Given the description of an element on the screen output the (x, y) to click on. 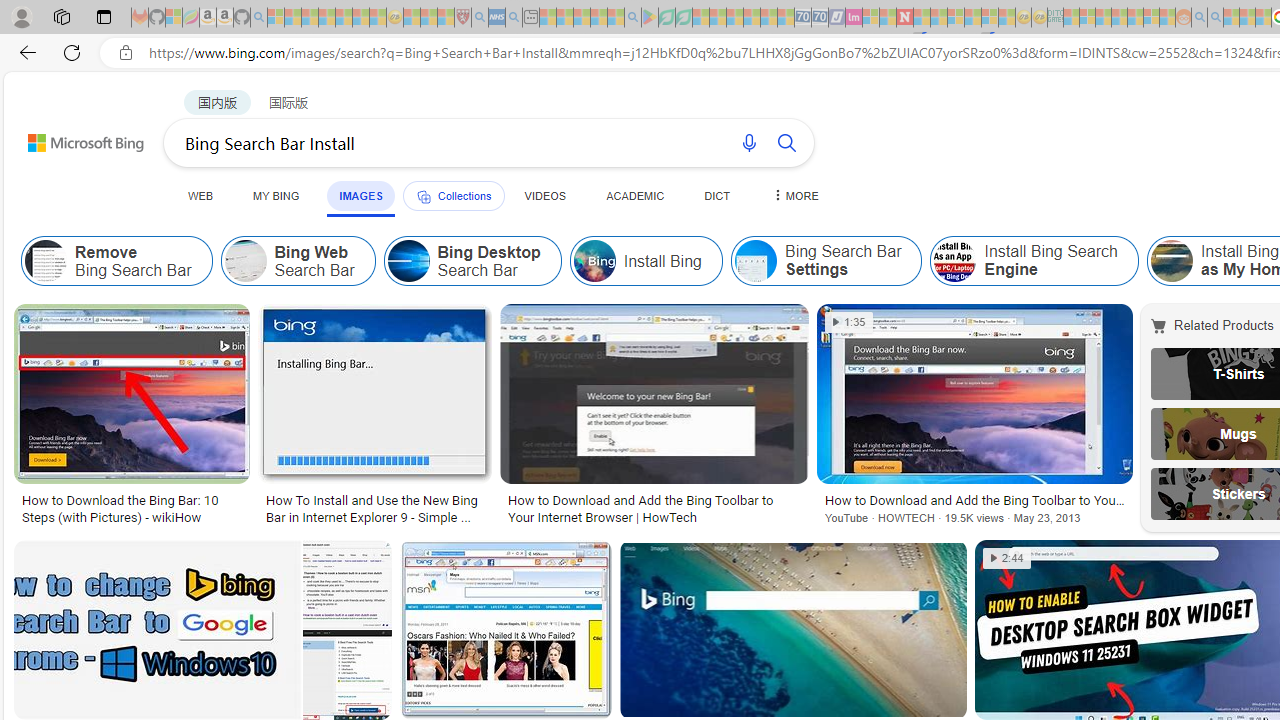
Bing Desktop Search Bar (408, 260)
Install Bing (594, 260)
Bluey: Let's Play! - Apps on Google Play - Sleeping (649, 17)
Utah sues federal government - Search - Sleeping (1215, 17)
DICT (717, 195)
utah sues federal government - Search - Sleeping (513, 17)
New Report Confirms 2023 Was Record Hot | Watch - Sleeping (343, 17)
